Given the description of an element on the screen output the (x, y) to click on. 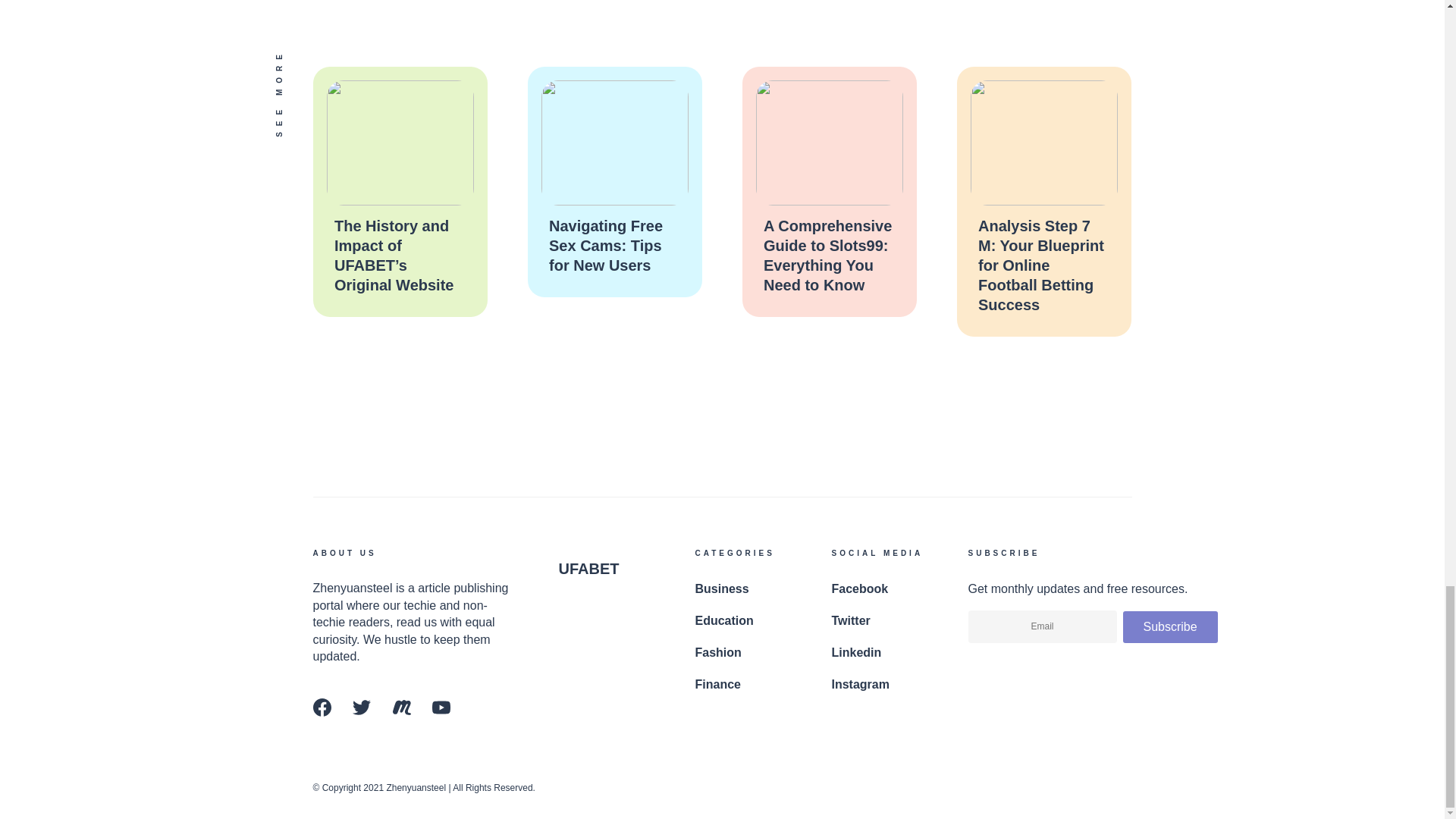
Navigating Free Sex Cams: Tips for New Users (605, 245)
